Given the description of an element on the screen output the (x, y) to click on. 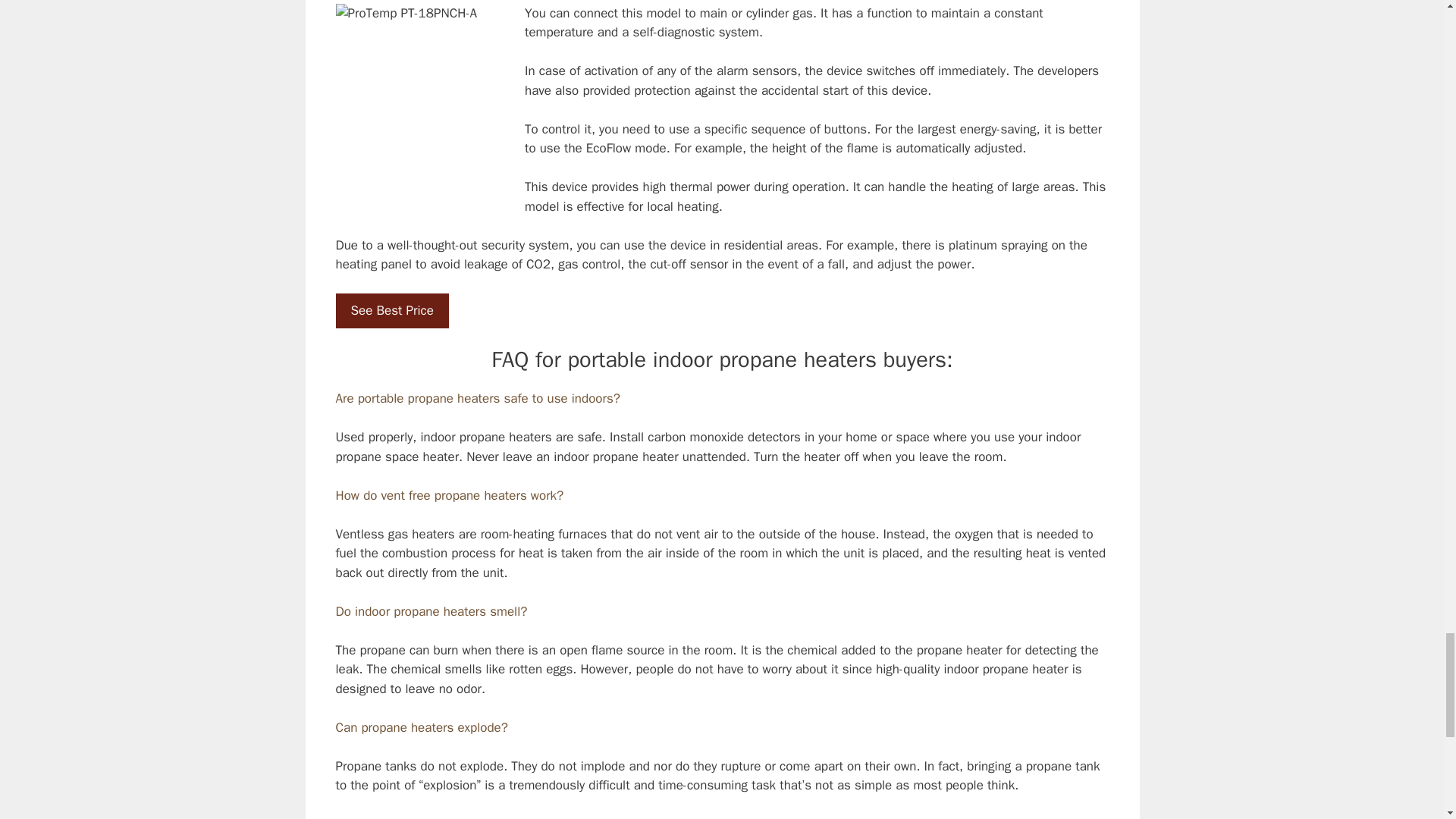
See Best Price (391, 310)
